Given the description of an element on the screen output the (x, y) to click on. 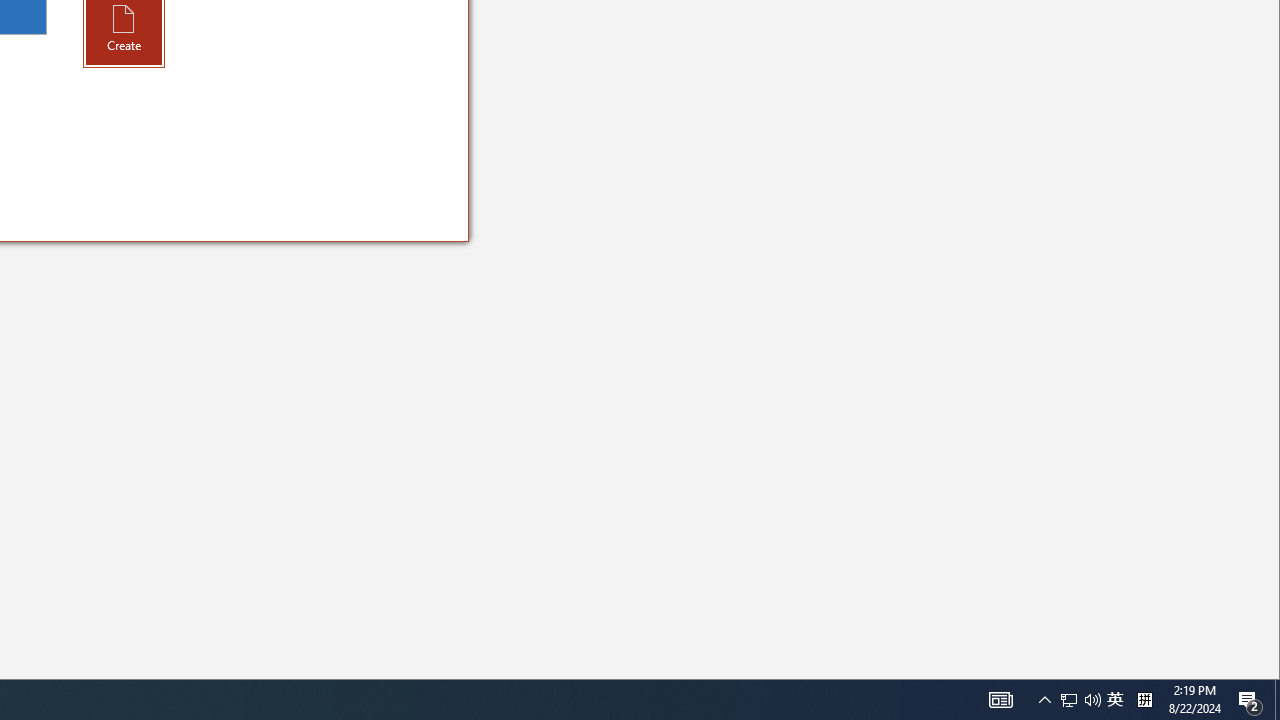
Q2790: 100% (1069, 699)
Tray Input Indicator - Chinese (Simplified, China) (1092, 699)
User Promoted Notification Area (1144, 699)
AutomationID: 4105 (1080, 699)
Notification Chevron (1000, 699)
Show desktop (1044, 699)
Action Center, 2 new notifications (1277, 699)
